Given the description of an element on the screen output the (x, y) to click on. 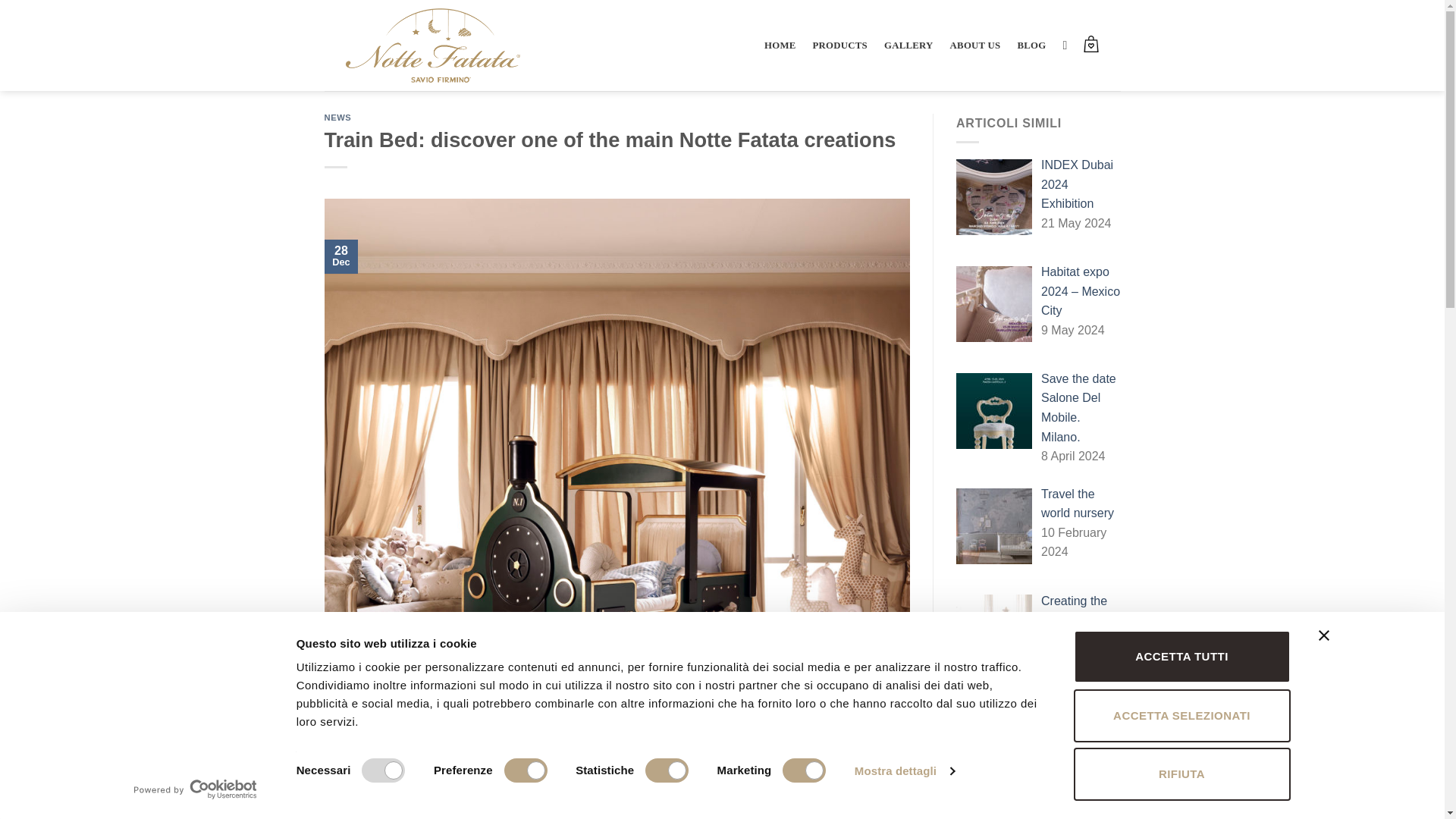
Mostra dettagli (904, 771)
RIFIUTA (1182, 773)
Notte Fatata (432, 44)
ACCETTA TUTTI (1182, 656)
ACCETTA SELEZIONATI (1182, 715)
PRODUCTS (839, 45)
HOME (780, 45)
GALLERY (908, 45)
